Given the description of an element on the screen output the (x, y) to click on. 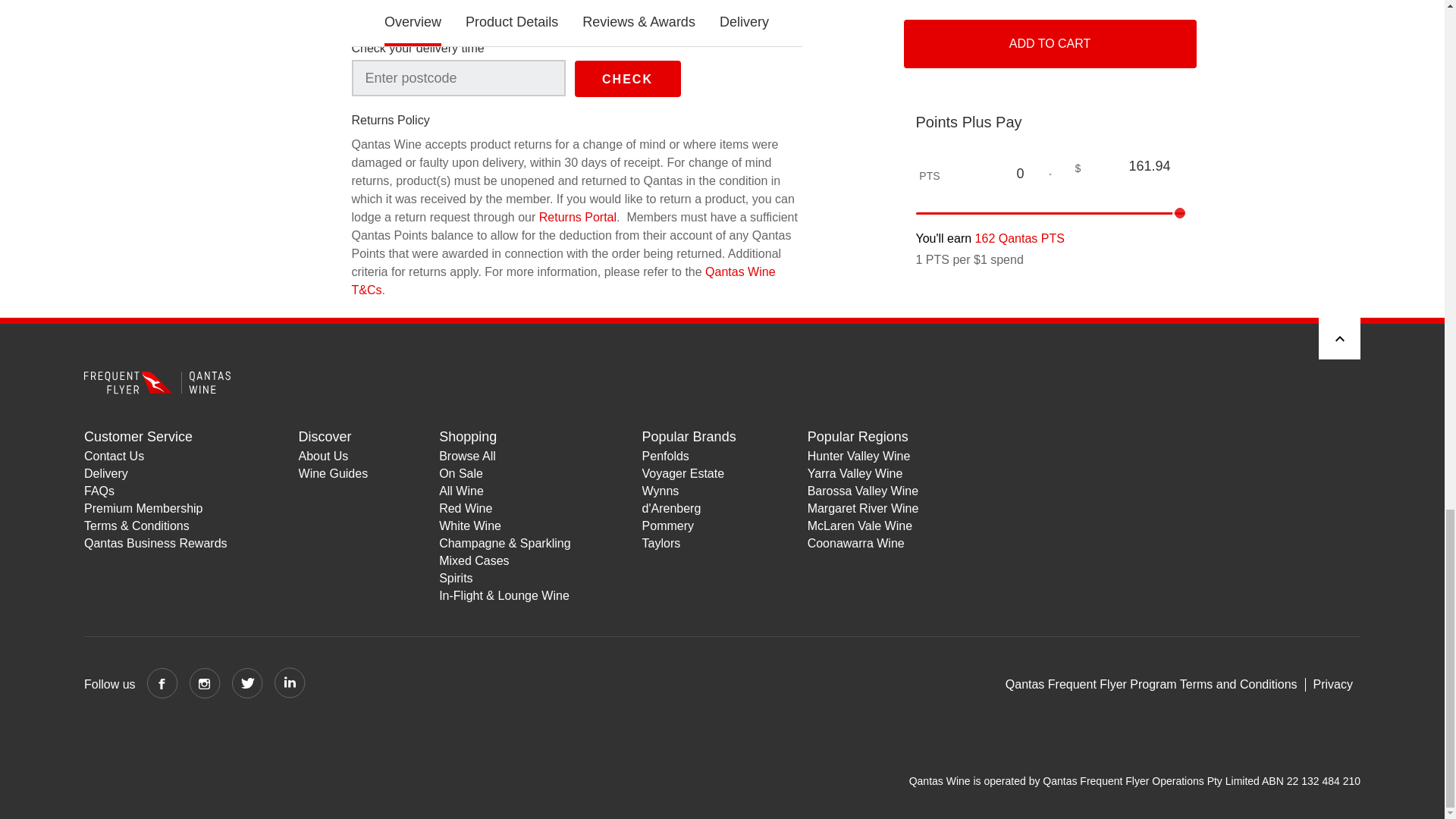
FAQs (155, 490)
delivery (483, 12)
All Wine (504, 490)
Premium Membership (155, 507)
Qantas Business Rewards (155, 543)
Contact Us (155, 456)
CHECK (628, 78)
On Sale (504, 473)
Wine Guides (333, 473)
Returns Portal (576, 216)
Red Wine (504, 507)
Browse All (504, 456)
About Us (333, 456)
Delivery (155, 473)
